Given the description of an element on the screen output the (x, y) to click on. 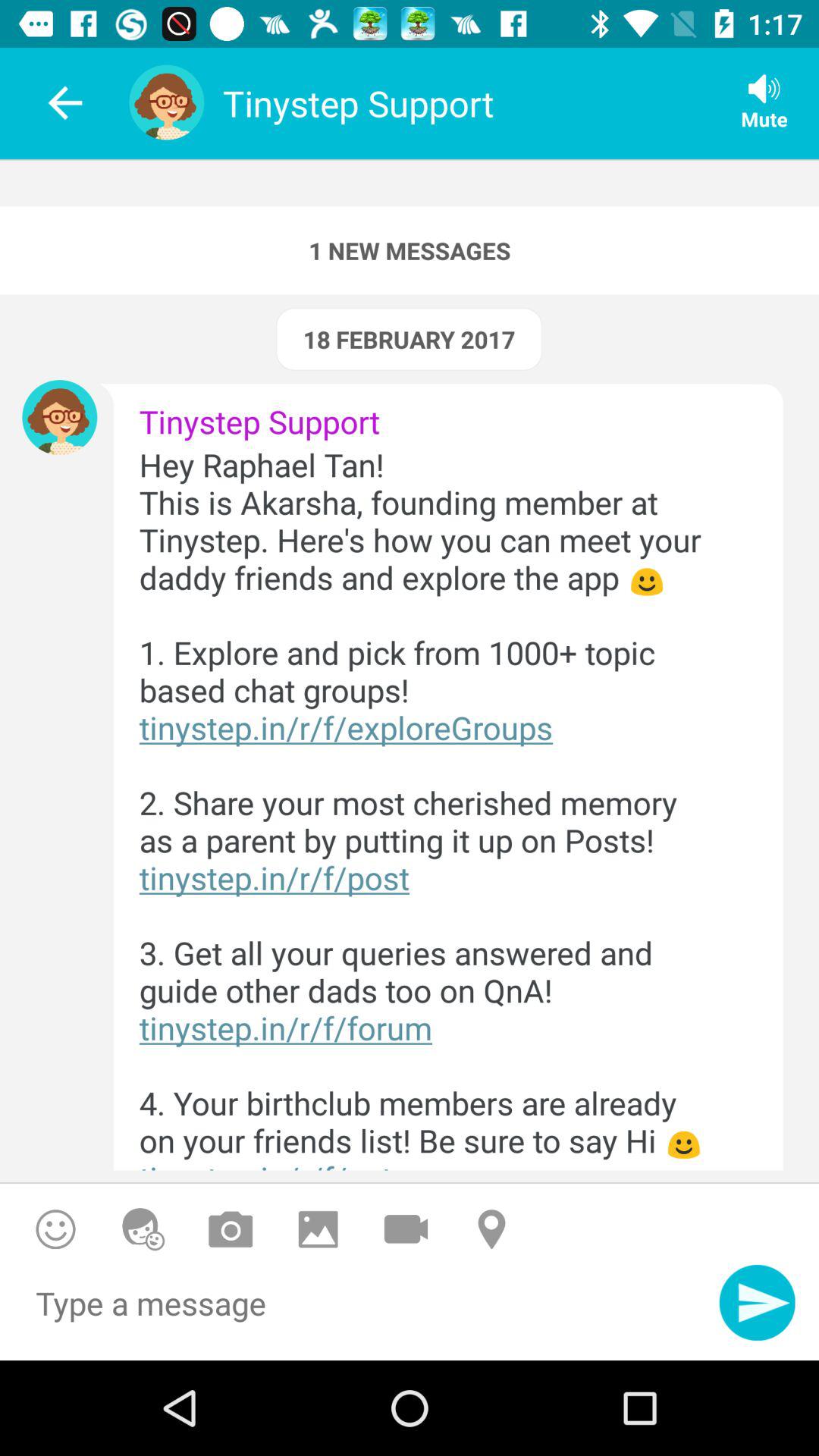
open the 1 new messages icon (409, 250)
